Given the description of an element on the screen output the (x, y) to click on. 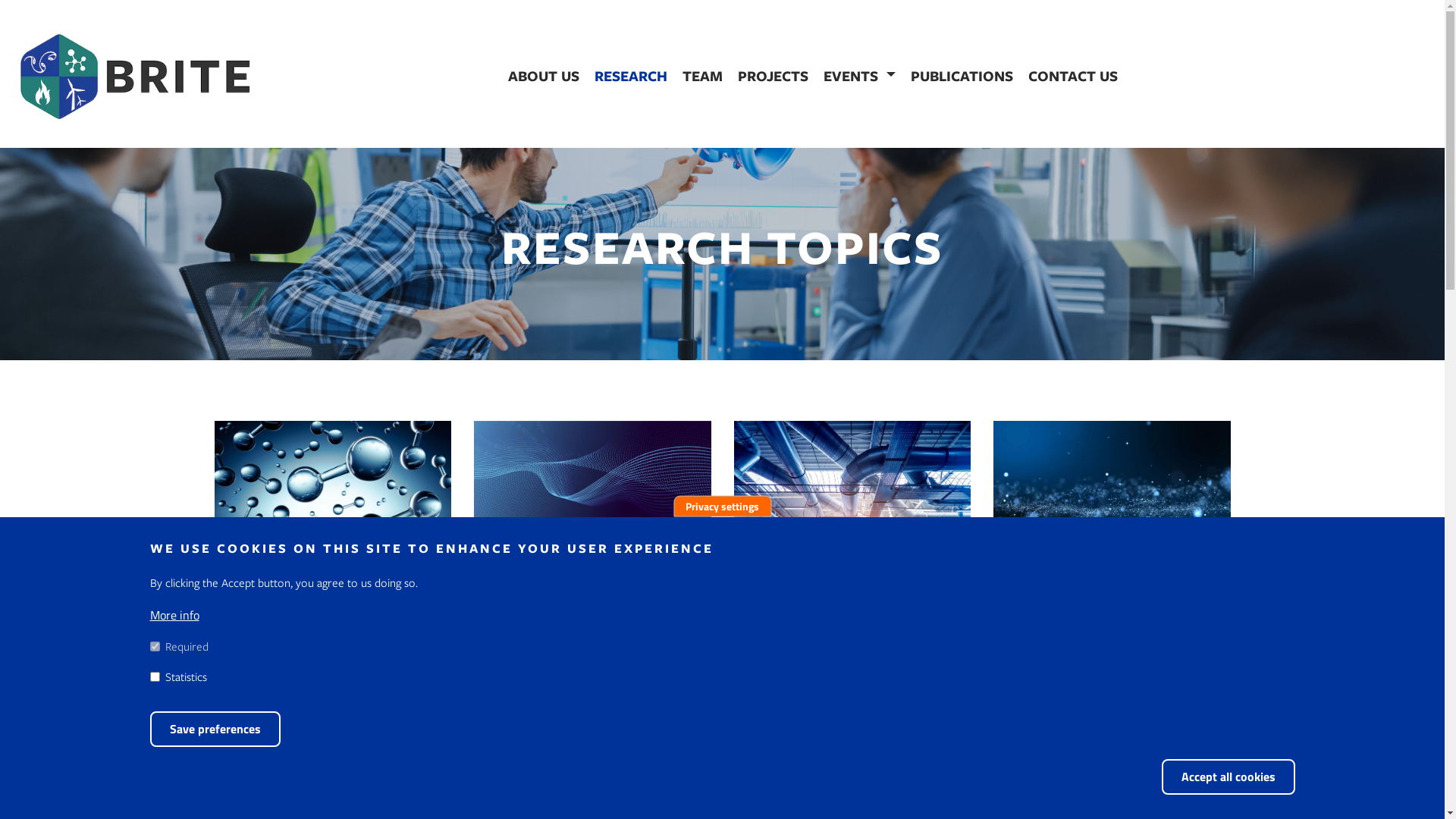
Save preferences Element type: text (215, 728)
RESEARCH Element type: text (630, 75)
ABOUT US Element type: text (543, 75)
TEAM Element type: text (702, 75)
Read more Element type: text (332, 739)
Read more Element type: text (852, 777)
Accept all cookies Element type: text (1228, 776)
Skip to main content Element type: text (0, 0)
CONTACT US Element type: text (1072, 75)
Privacy settings Element type: text (722, 506)
Read more Element type: text (1111, 797)
Read more Element type: text (592, 751)
More info Element type: text (174, 615)
PROJECTS Element type: text (772, 75)
PUBLICATIONS Element type: text (961, 75)
Withdraw consent Element type: text (1314, 766)
Go to the homepage Element type: hover (134, 75)
EVENTS Element type: text (858, 75)
